Given the description of an element on the screen output the (x, y) to click on. 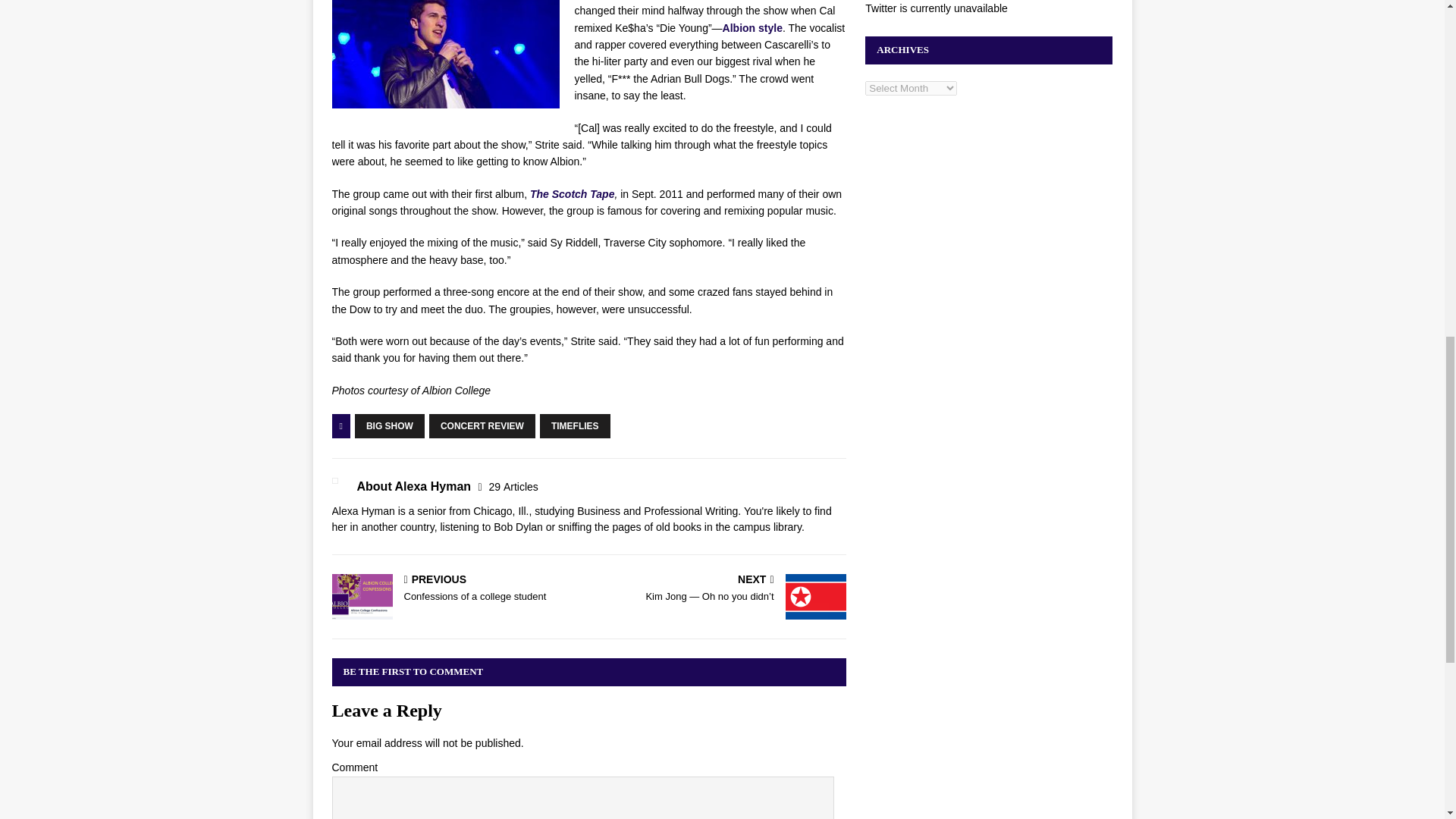
29 Articles (457, 589)
More articles written by Alexa Hyman' (513, 486)
Albion style (513, 486)
TIMEFLIES (752, 28)
CONCERT REVIEW (575, 426)
The Scotch Tape (482, 426)
BIG SHOW (571, 193)
